Given the description of an element on the screen output the (x, y) to click on. 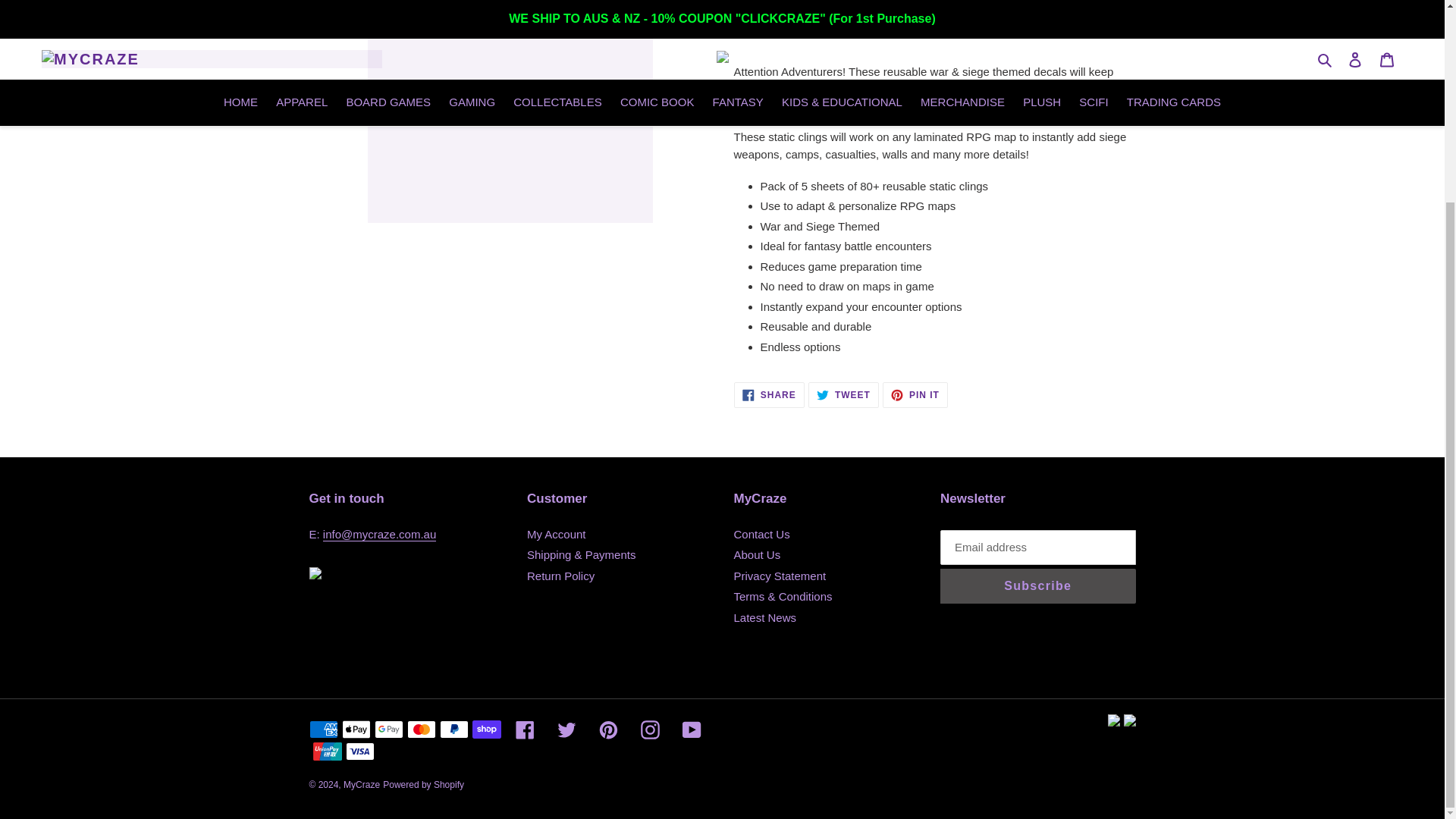
Shop Pay (485, 729)
Visa (769, 394)
Union Pay (360, 751)
American Express (326, 751)
Mastercard (322, 729)
Google Pay (420, 729)
SOLD OUT (388, 729)
Apple Pay (884, 12)
PayPal (354, 729)
